Given the description of an element on the screen output the (x, y) to click on. 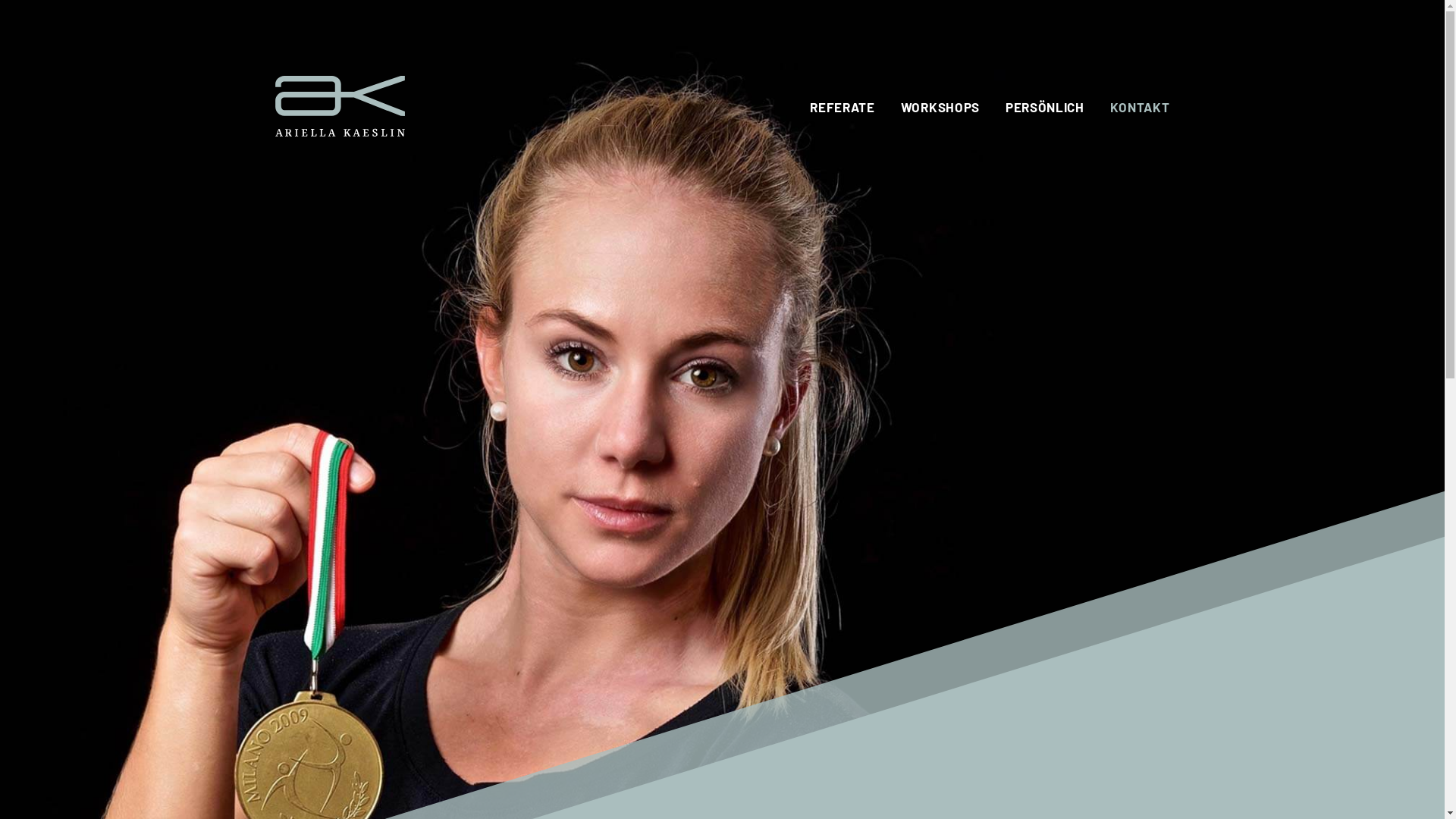
REFERATE Element type: text (841, 106)
KONTAKT Element type: text (1140, 106)
WORKSHOPS Element type: text (939, 106)
